Given the description of an element on the screen output the (x, y) to click on. 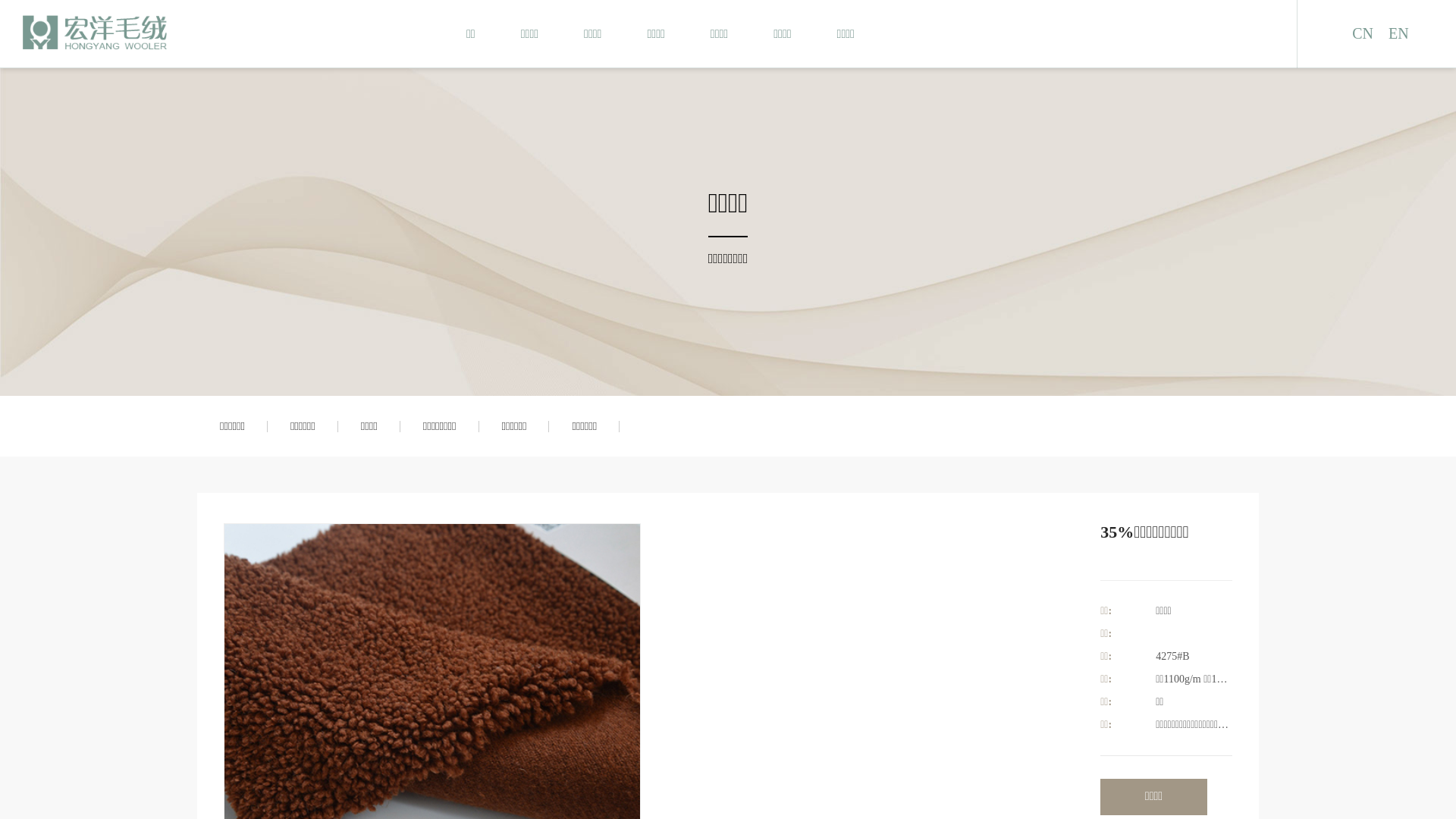
EN Element type: text (1398, 33)
CN Element type: text (1362, 33)
